Given the description of an element on the screen output the (x, y) to click on. 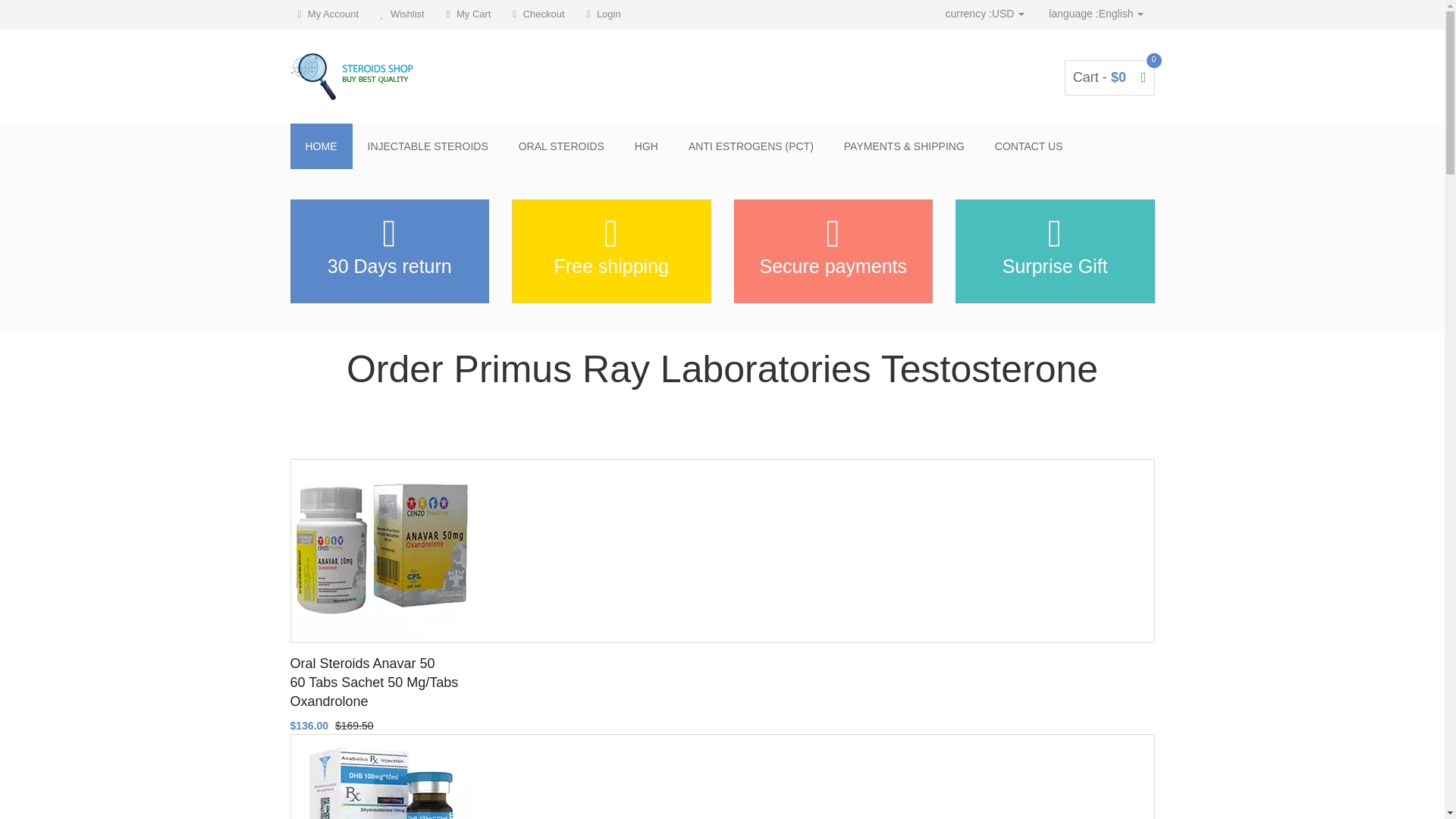
HGH (646, 145)
CONTACT US (1028, 145)
HOME (320, 145)
My Account (327, 14)
INJECTABLE STEROIDS (427, 145)
Wishlist (402, 14)
My Cart (469, 14)
ORAL STEROIDS (561, 145)
currency :USD (983, 14)
language :English (1096, 14)
Checkout (538, 14)
Login (603, 14)
